Given the description of an element on the screen output the (x, y) to click on. 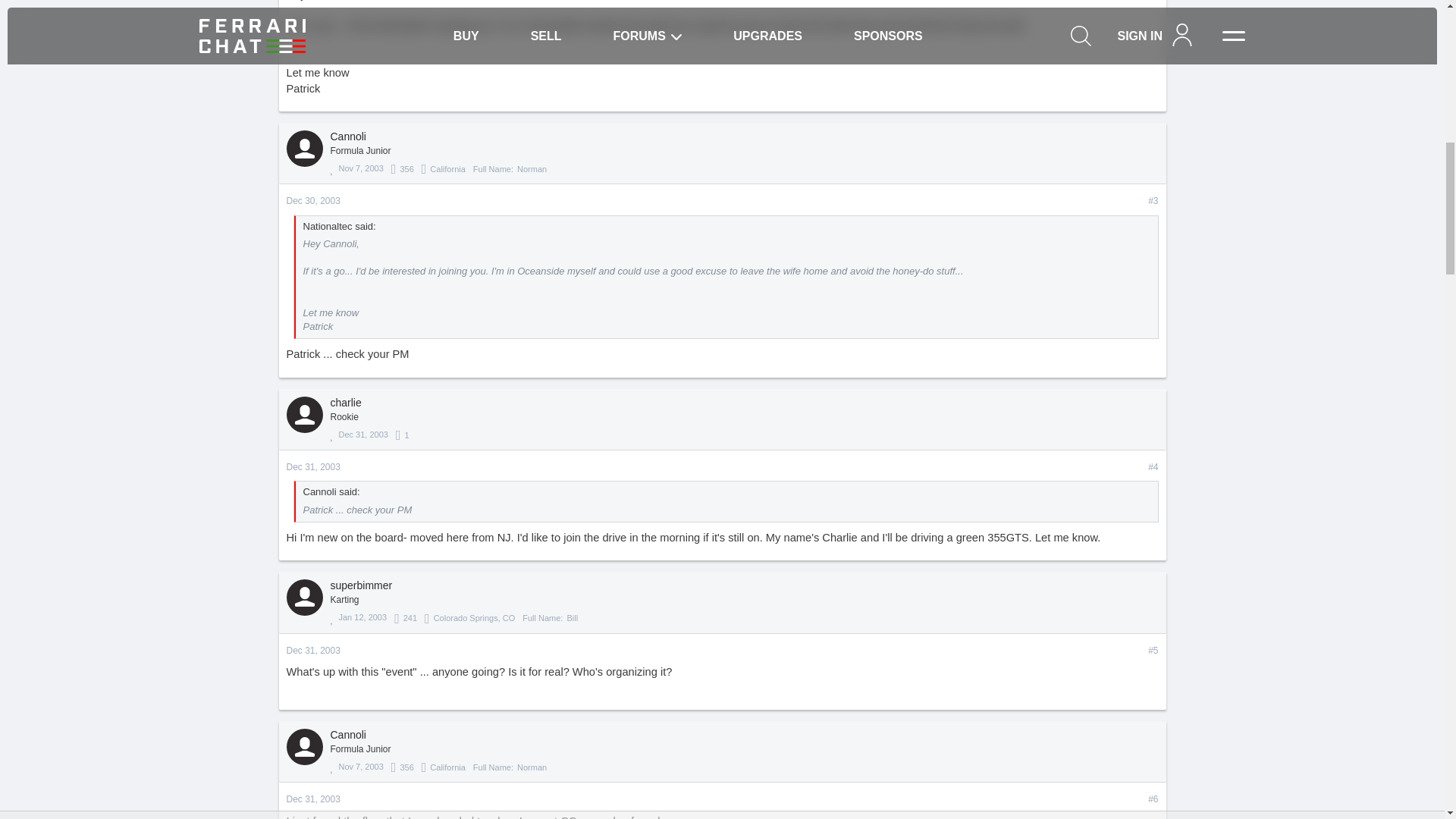
Permalink (313, 466)
Permalink (1152, 799)
Permalink (313, 200)
Permalink (1152, 467)
Permalink (1152, 201)
Permalink (313, 650)
Permalink (1152, 650)
